Given the description of an element on the screen output the (x, y) to click on. 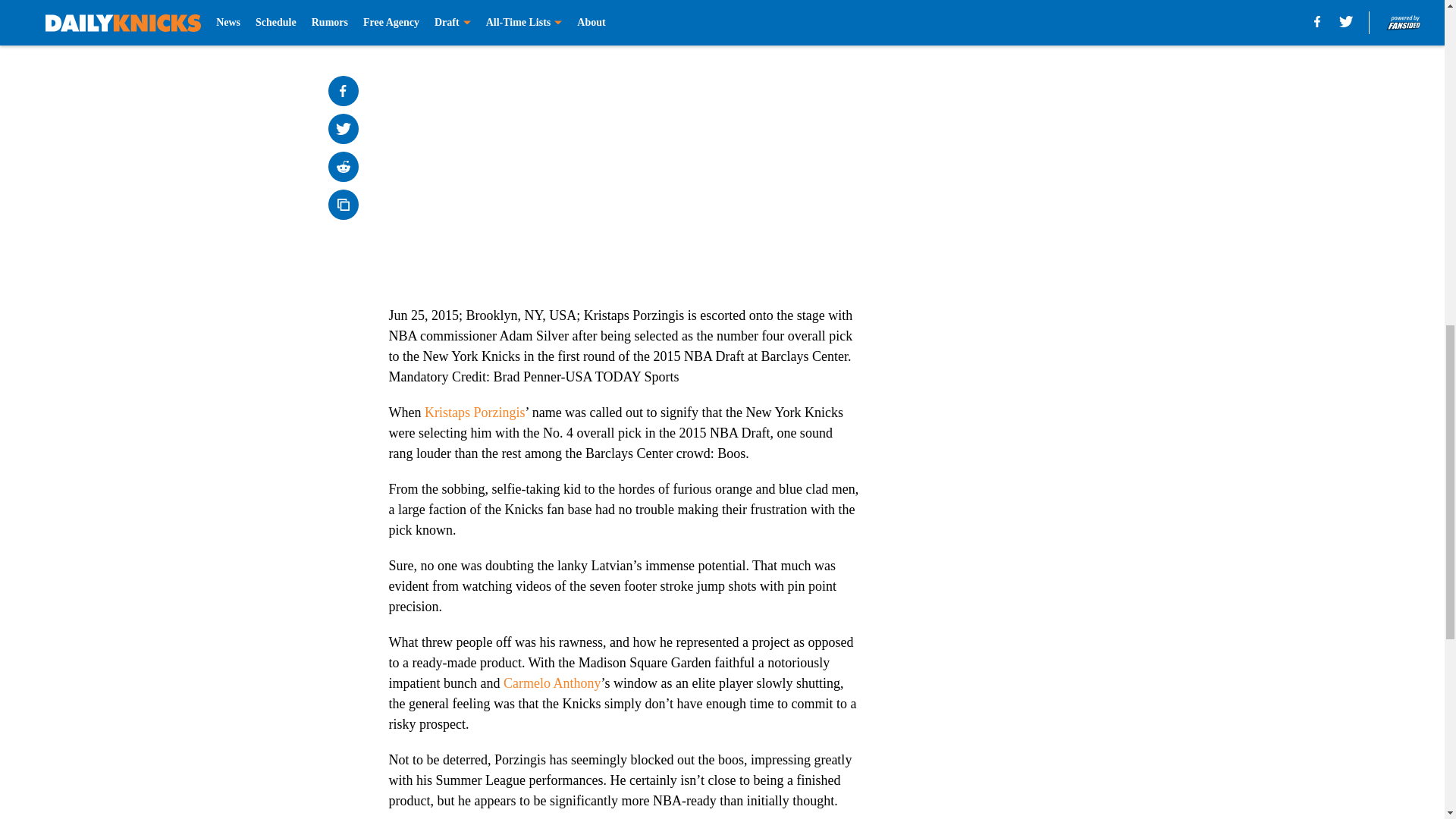
Prev (433, 5)
Next (813, 5)
Carmelo Anthony (552, 683)
Kristaps Porzingis (475, 412)
